Given the description of an element on the screen output the (x, y) to click on. 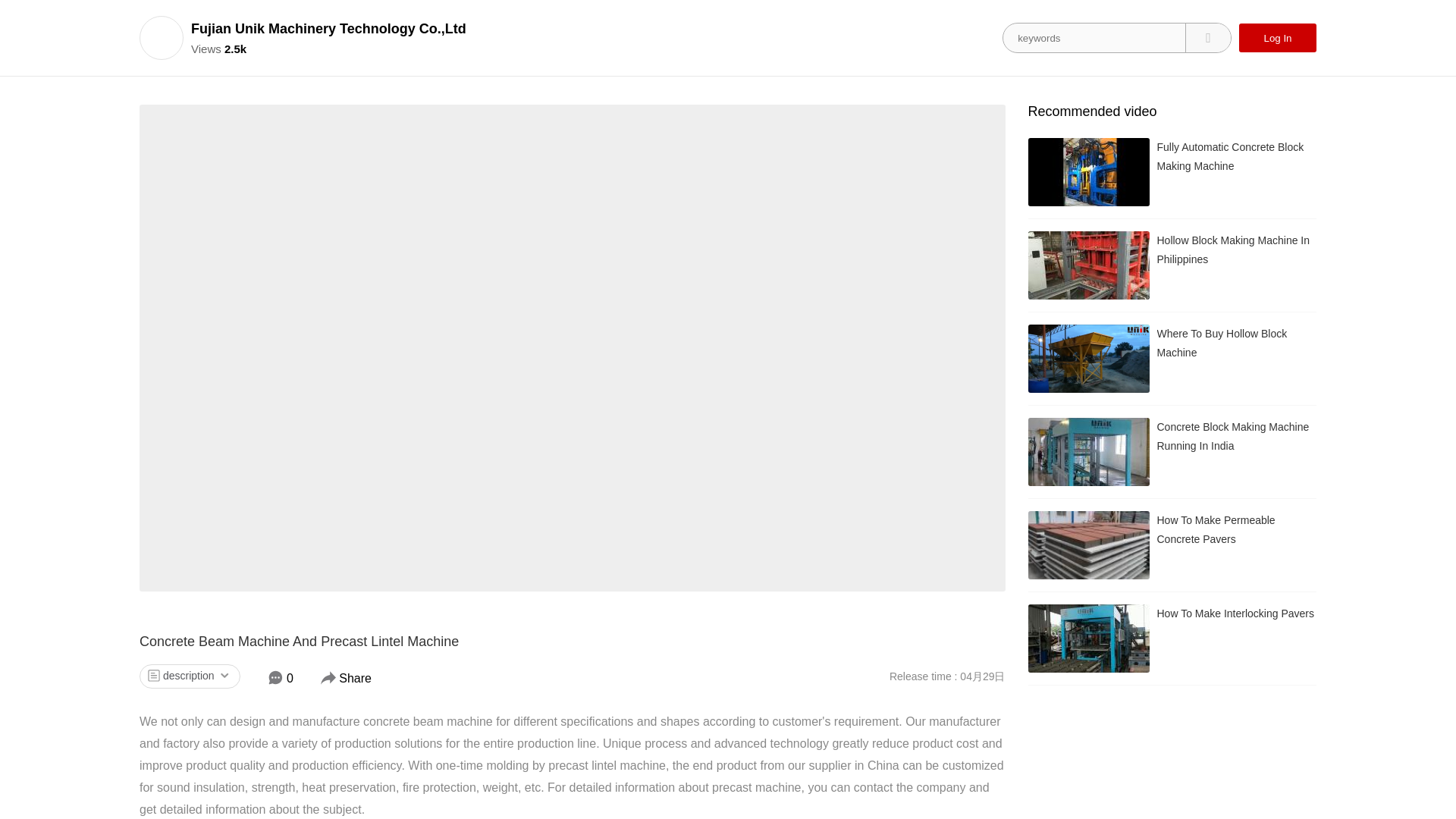
Concrete Block Making Machine Running In India (1172, 451)
Fully Automatic Concrete Block Making Machine (1172, 172)
Hollow Block Making Machine In Philippines (1172, 264)
Log In (1277, 37)
How To Make Permeable Concrete Pavers (1172, 545)
Where To Buy Hollow Block Machine (1172, 358)
How To Make Interlocking Pavers (1172, 638)
